Given the description of an element on the screen output the (x, y) to click on. 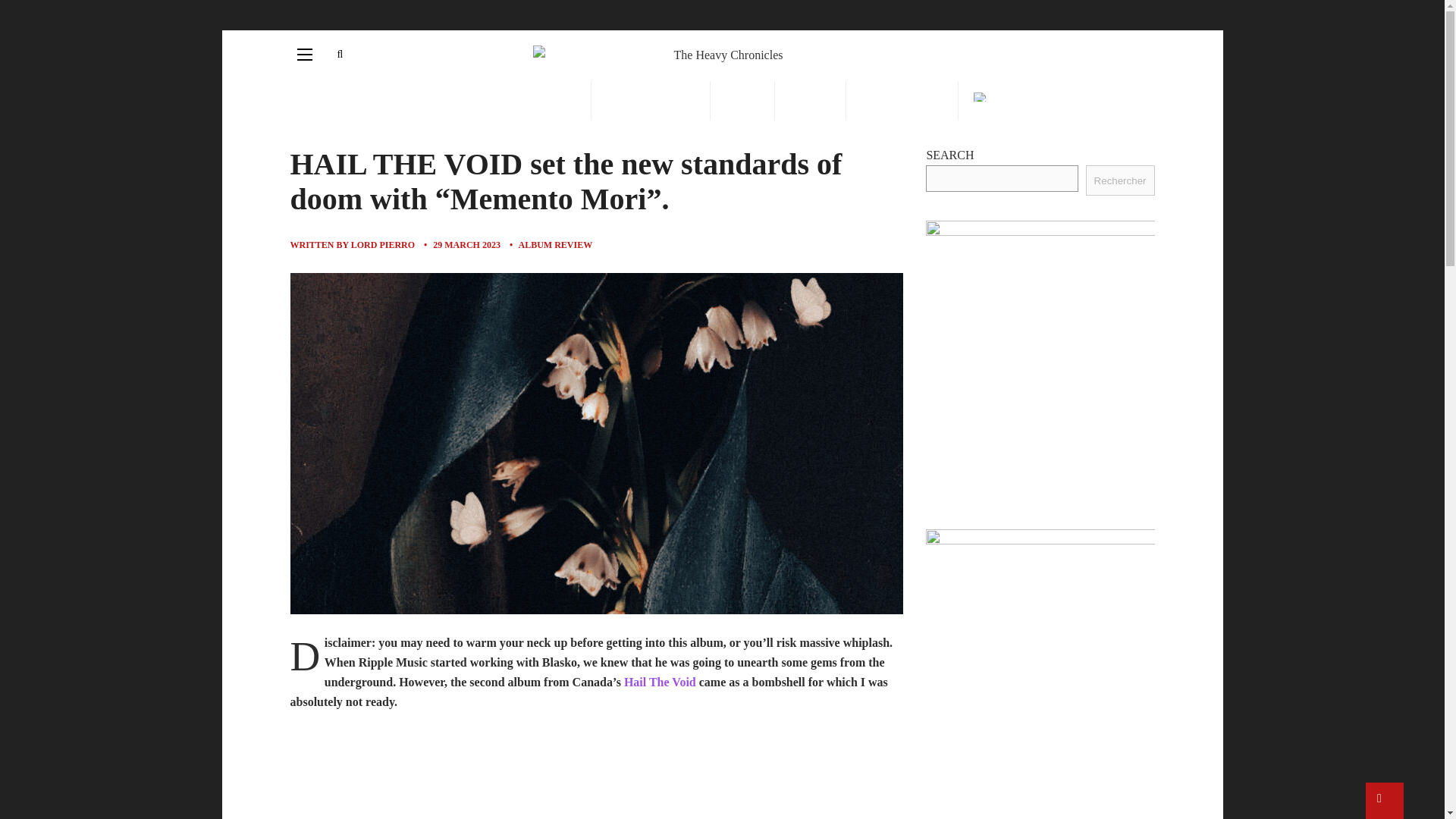
LORD PIERRO (382, 244)
PREMIERES (901, 100)
Toggle Sidebar Menu (304, 54)
ALBUM REVIEWS (516, 100)
ALBUM REVIEW (555, 244)
Posts by Lord Pierro (382, 244)
NEWS (809, 100)
INTERVIEWS (650, 100)
Rechercher (1120, 180)
